Given the description of an element on the screen output the (x, y) to click on. 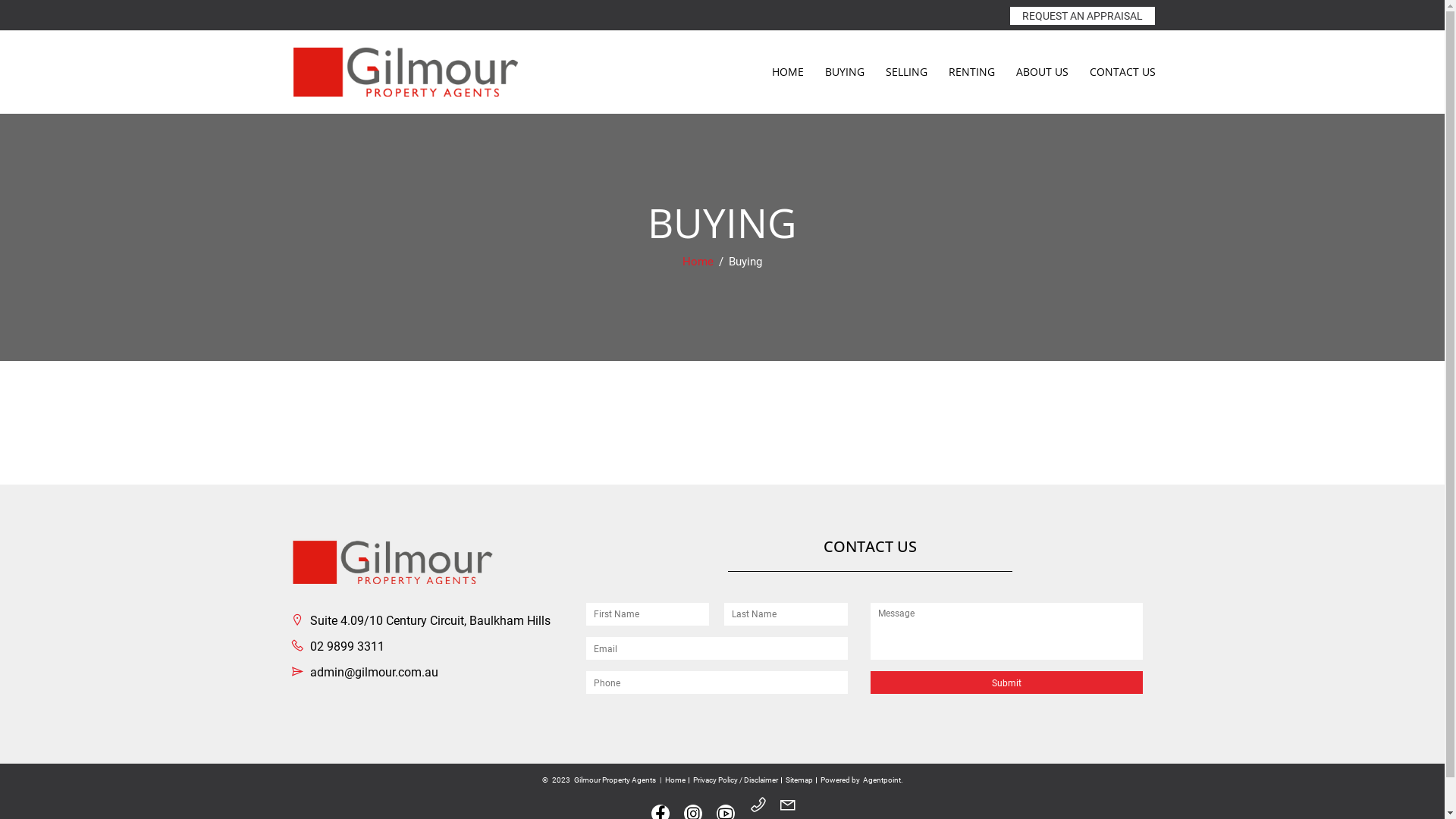
CONTACT US Element type: text (1121, 71)
02 9899 3311 Element type: text (336, 646)
Sitemap Element type: text (798, 779)
SELLING Element type: text (906, 71)
admin@gilmour.com.au Element type: text (363, 672)
Home Element type: text (674, 779)
BUYING Element type: text (844, 71)
HOME Element type: text (787, 71)
RENTING Element type: text (970, 71)
Home Element type: text (699, 261)
Privacy Policy / Disclaimer Element type: text (735, 779)
Agentpoint Element type: text (881, 780)
ABOUT US Element type: text (1042, 71)
Submit Element type: text (1006, 681)
REQUEST AN APPRAISAL Element type: text (1082, 15)
